Given the description of an element on the screen output the (x, y) to click on. 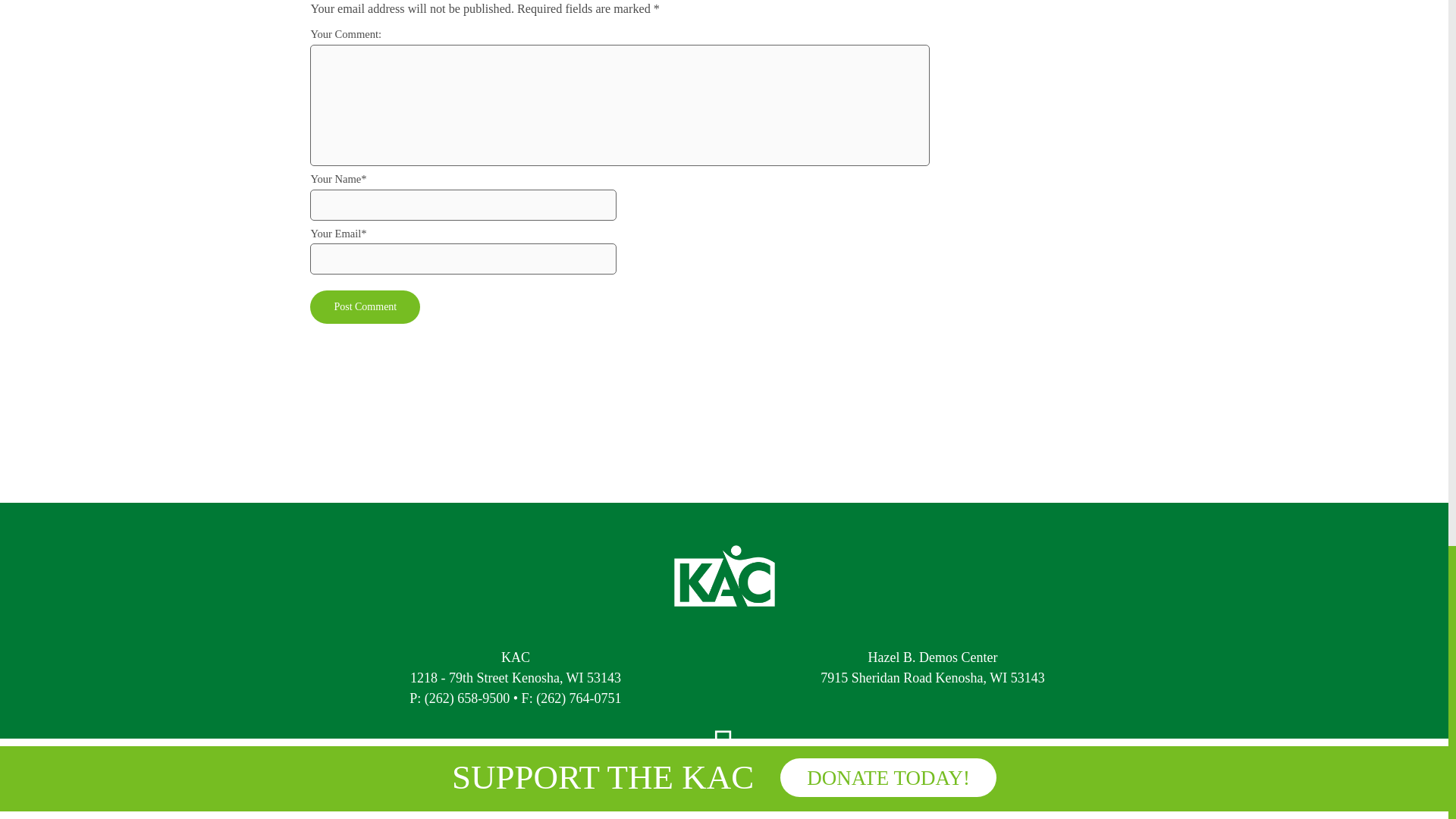
Post Comment (365, 306)
